Given the description of an element on the screen output the (x, y) to click on. 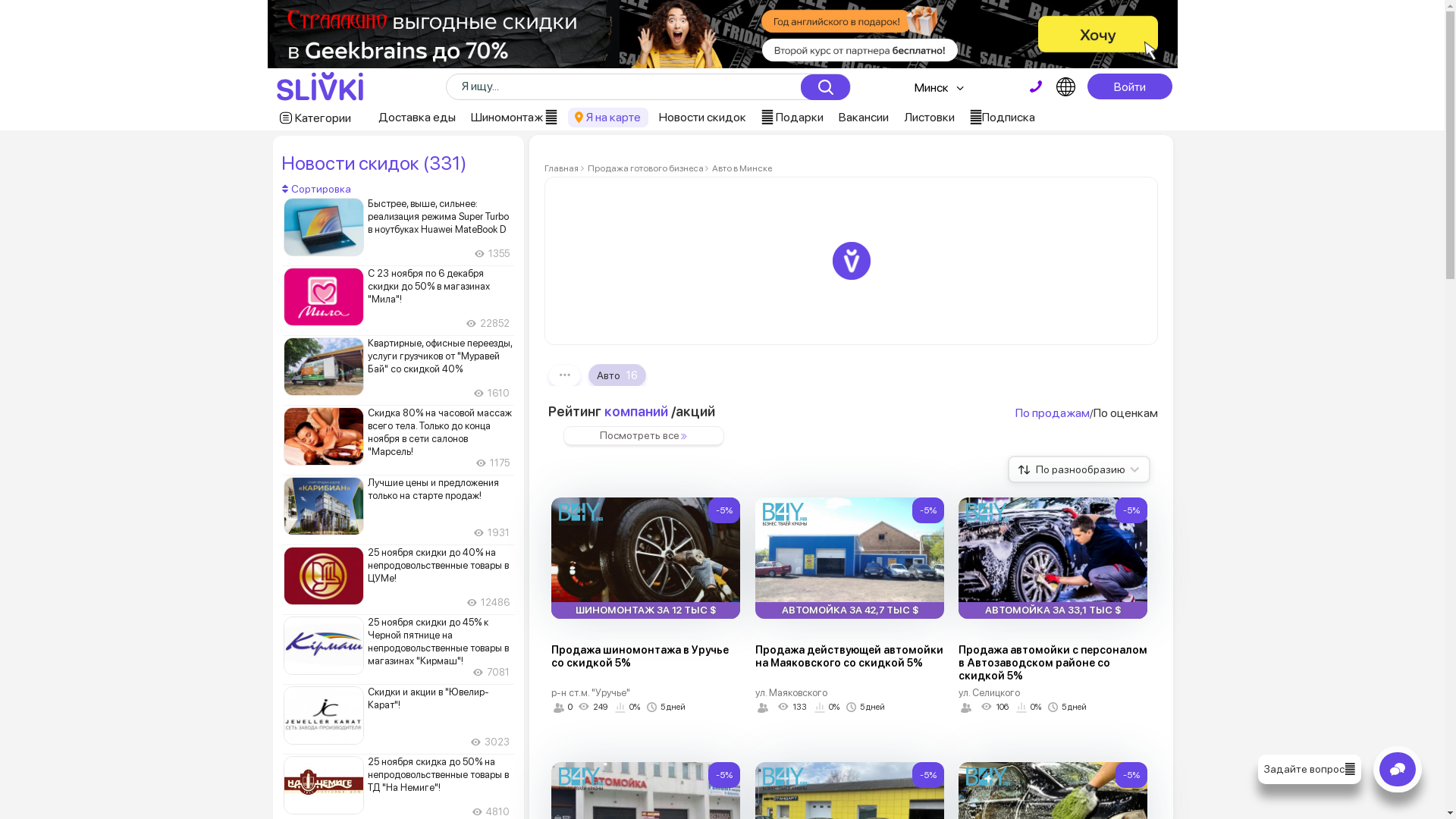
  Element type: text (1035, 86)
0 Element type: text (562, 707)
